Given the description of an element on the screen output the (x, y) to click on. 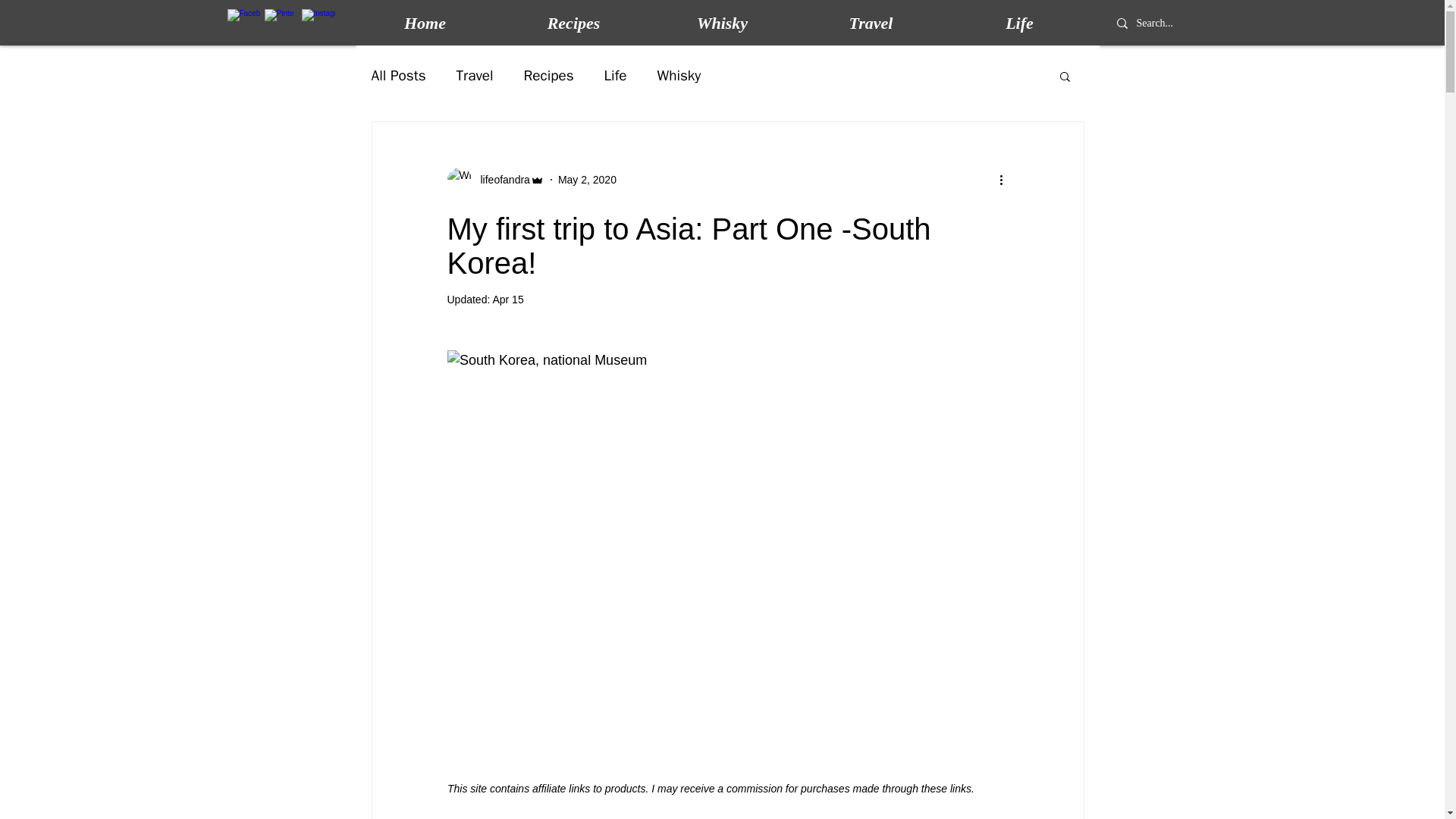
Home (424, 23)
lifeofandra (500, 179)
Life (1018, 23)
Whisky (679, 75)
Travel (870, 23)
Whisky (721, 23)
Life (615, 75)
Apr 15 (507, 299)
Recipes (573, 23)
All Posts (398, 75)
Recipes (548, 75)
Travel (475, 75)
May 2, 2020 (586, 178)
